Given the description of an element on the screen output the (x, y) to click on. 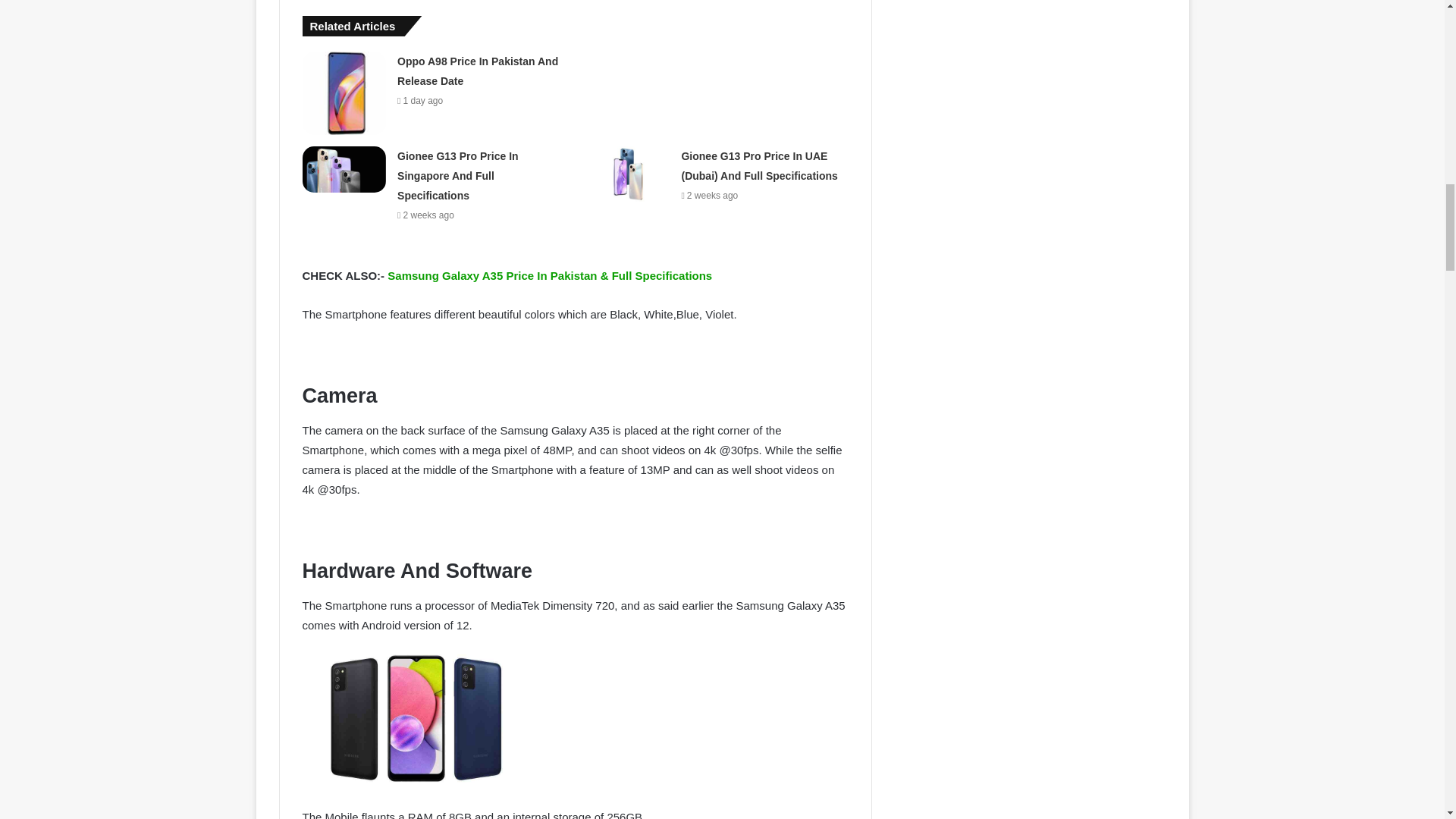
Oppo A98 Price In Pakistan And Release Date (343, 93)
Gionee G13 Pro Price In Singapore And Full Specifications (457, 175)
Gionee G13 Pro Price In Singapore And Full Specifications (343, 169)
Oppo A98 Price In Pakistan And Release Date (477, 70)
